Given the description of an element on the screen output the (x, y) to click on. 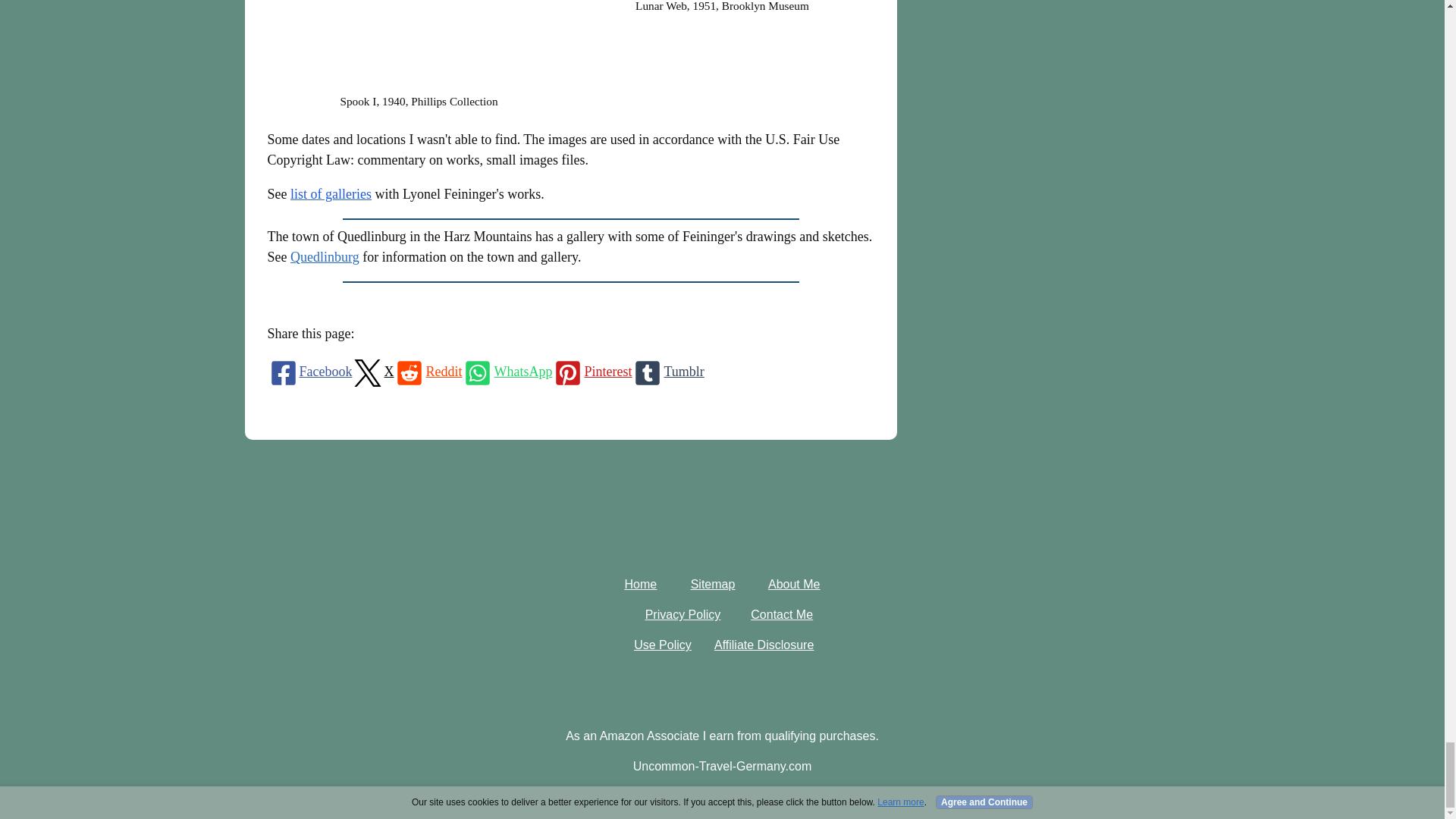
WhatsApp (506, 371)
Facebook (309, 371)
Reddit (427, 371)
list of galleries (330, 193)
X (372, 371)
Quedlinburg (324, 256)
Tumblr (667, 371)
Pinterest (591, 371)
